Given the description of an element on the screen output the (x, y) to click on. 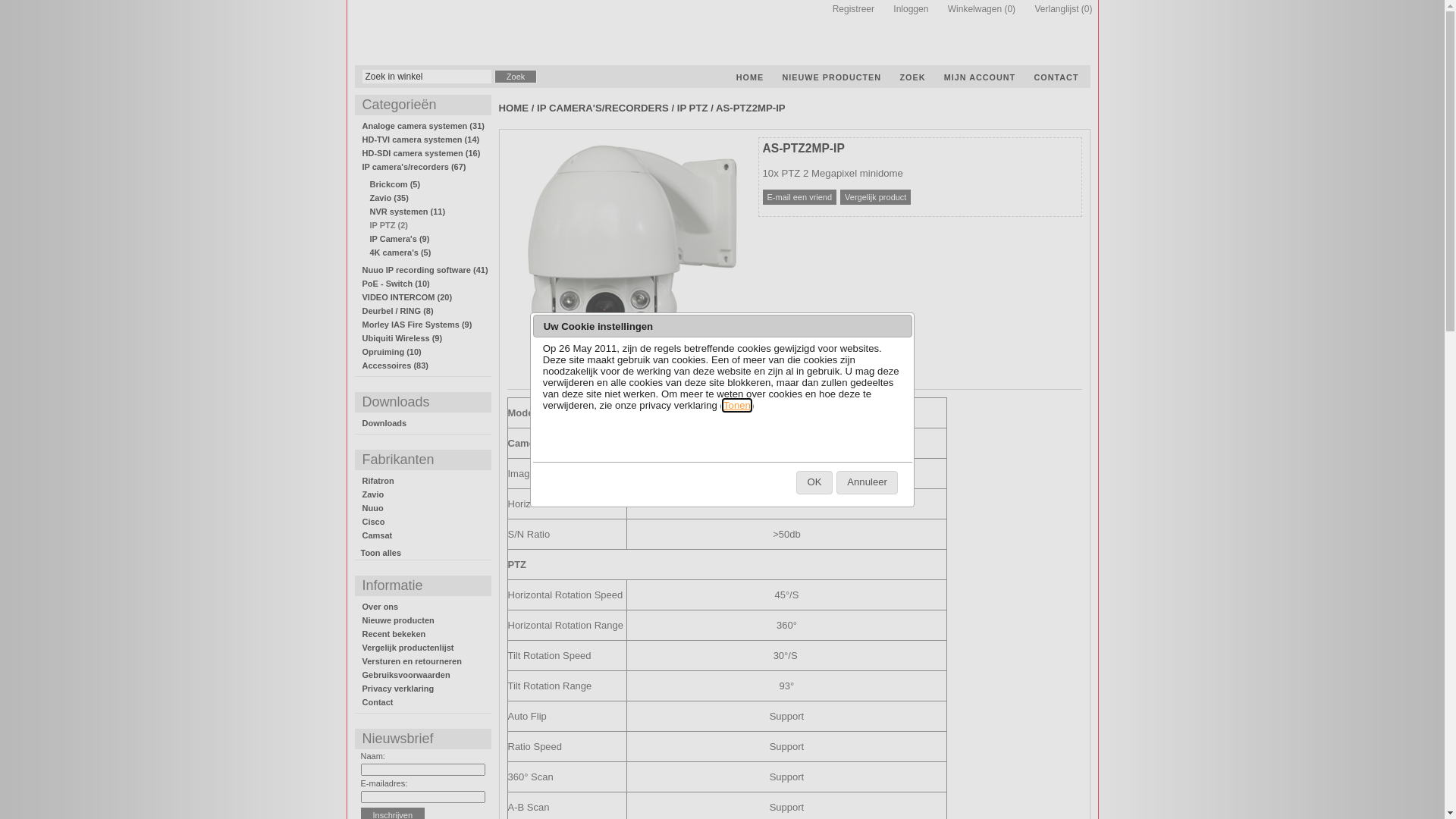
Rifatron Element type: text (378, 480)
Versturen en retourneren Element type: text (411, 660)
Recent bekeken Element type: text (394, 633)
PoE - Switch (10) Element type: text (395, 283)
VIDEO INTERCOM (20) Element type: text (407, 296)
(0) Element type: text (1009, 8)
OK Element type: text (813, 482)
  Element type: text (509, 30)
Cisco Element type: text (373, 521)
Over ons Element type: text (380, 606)
Verlanglijst Element type: text (1048, 8)
HD-SDI camera systemen (16) Element type: text (421, 152)
Registreer Element type: text (845, 8)
NIEUWE PRODUCTEN Element type: text (832, 76)
Downloads Element type: text (384, 422)
HD-TVI camera systemen (14) Element type: text (421, 139)
(0) Element type: text (1086, 8)
IP PTZ (2) Element type: text (389, 224)
CONTACT Element type: text (1056, 76)
IP CAMERA'S/RECORDERS Element type: text (602, 107)
Accessoires (83) Element type: text (395, 365)
MIJN ACCOUNT Element type: text (979, 76)
Nieuwe producten Element type: text (398, 619)
Tonen Element type: text (736, 405)
Morley IAS Fire Systems (9) Element type: text (417, 324)
Contact Element type: text (377, 701)
Camsat Element type: text (377, 534)
Winkelwagen Element type: text (966, 8)
HOME Element type: text (513, 107)
4K camera's (5) Element type: text (400, 252)
E-mail een vriend Element type: text (799, 196)
IP camera's/recorders (67) Element type: text (414, 166)
Annuleer Element type: text (866, 482)
Deurbel / RING (8) Element type: text (397, 310)
Toon alles Element type: text (380, 552)
IP Camera's (9) Element type: text (399, 238)
IP PTZ Element type: text (692, 107)
NVR systemen (11) Element type: text (407, 211)
Nuuo IP recording software (41) Element type: text (425, 269)
Vergelijk productenlijst Element type: text (408, 647)
Privacy verklaring Element type: text (398, 688)
Inloggen Element type: text (903, 8)
Opruiming (10) Element type: text (391, 351)
Zavio (35) Element type: text (389, 197)
Zavio Element type: text (373, 493)
close Element type: text (900, 325)
Gebruiksvoorwaarden Element type: text (406, 674)
Analoge camera systemen (31) Element type: text (423, 125)
Nuuo Element type: text (372, 507)
Zoek Element type: text (515, 76)
Ubiquiti Wireless (9) Element type: text (402, 337)
HOME Element type: text (749, 76)
Vergelijk product Element type: text (875, 196)
Brickcom (5) Element type: text (395, 183)
ZOEK Element type: text (911, 76)
